Given the description of an element on the screen output the (x, y) to click on. 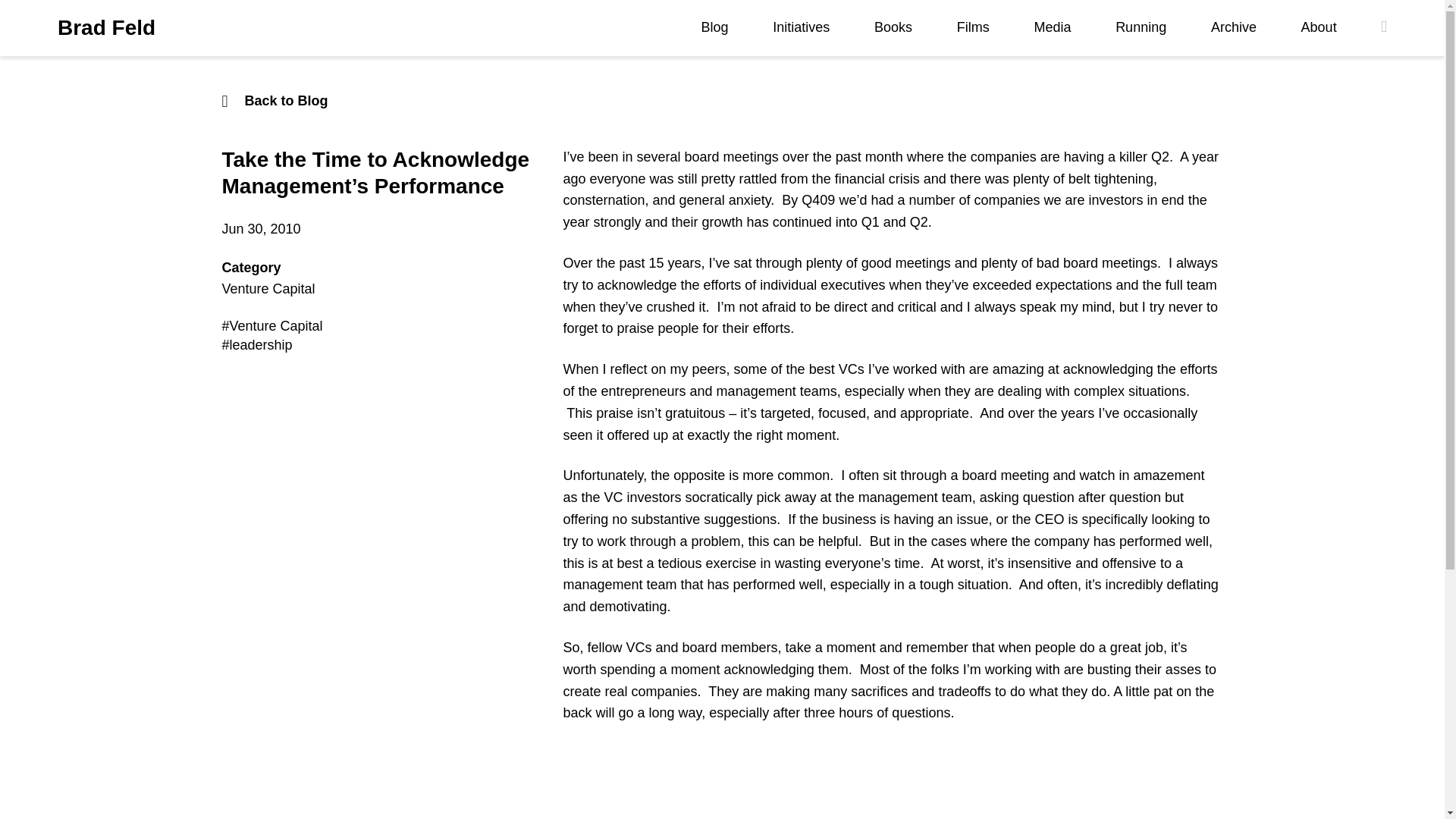
About (1318, 27)
Books (893, 27)
Back to Blog (722, 101)
Blog (715, 27)
Running (1140, 27)
Films (973, 27)
Archive (1233, 27)
Venture Capital (267, 288)
Media (1051, 27)
Initiatives (801, 27)
Brad Feld (106, 27)
